Given the description of an element on the screen output the (x, y) to click on. 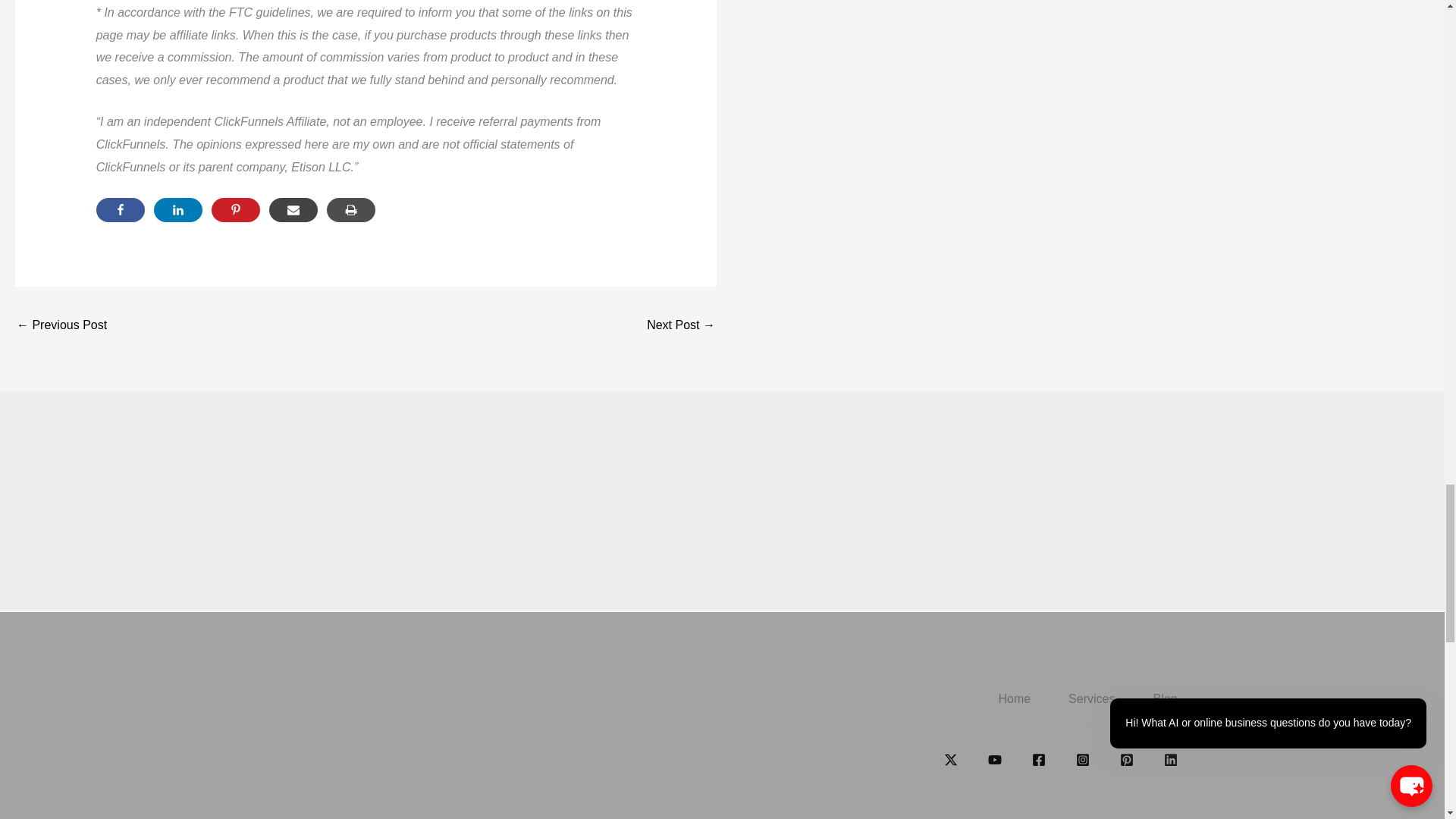
Legendary Marketer Review - My Honest Opinion (61, 326)
Share on Facebook (120, 209)
Print this Page (350, 209)
Share on LinkedIn (178, 209)
Bluehost Vs. Hostgator (680, 326)
Share on Pinterest (235, 209)
Share via Email (293, 209)
